Given the description of an element on the screen output the (x, y) to click on. 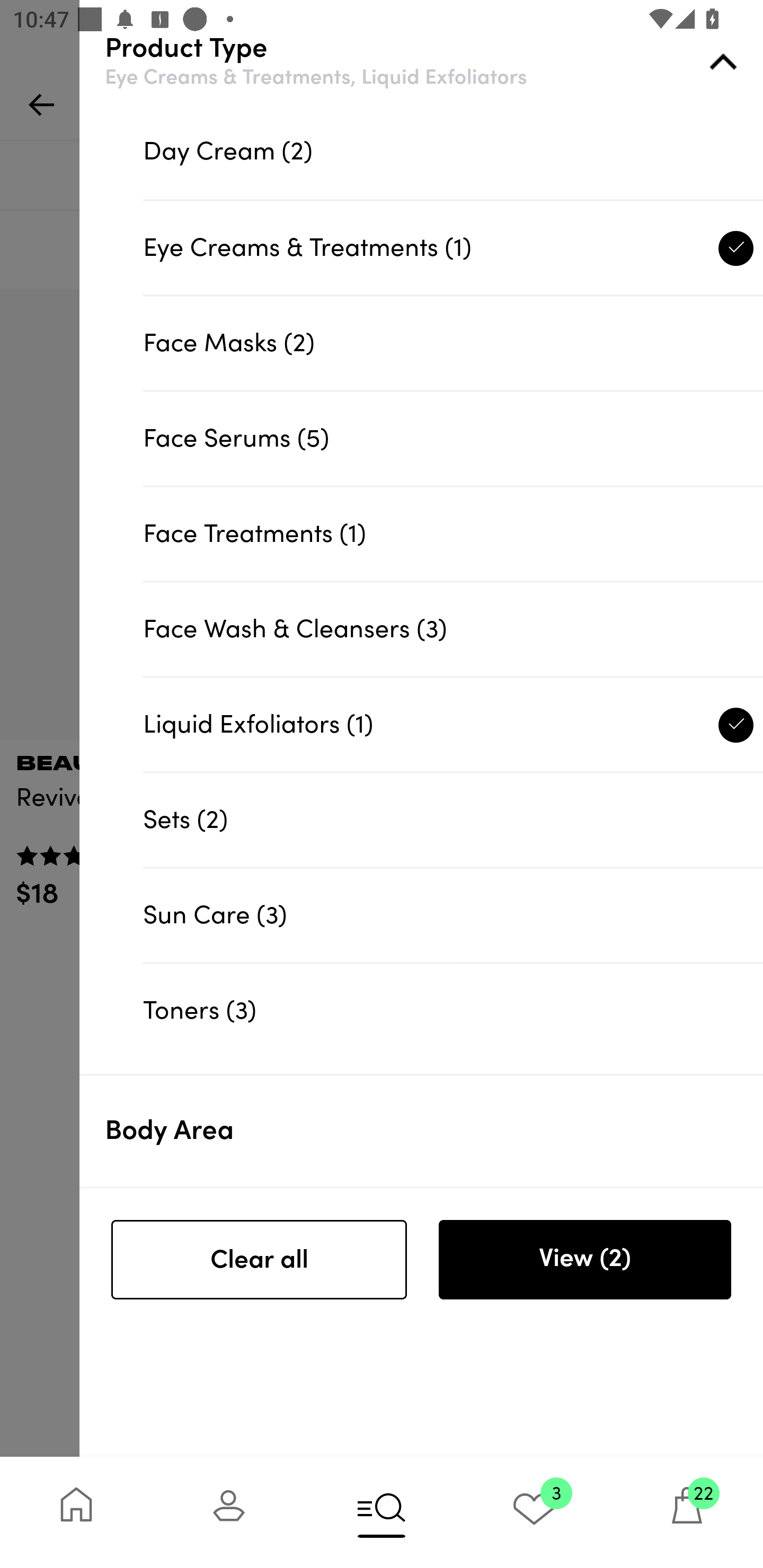
Day Cream (2) (453, 152)
Eye Creams & Treatments (1)  (453, 246)
Face Masks (2) (453, 342)
Face Serums (5) (453, 438)
Face Treatments (1) (453, 533)
Face Wash & Cleansers (3) (453, 628)
Liquid Exfoliators (1)  (453, 723)
Sets (2) (453, 819)
Sun Care (3) (453, 914)
Toners (3) (453, 1010)
Body Area (434, 1130)
Clear all (258, 1259)
View (2) (584, 1259)
3 (533, 1512)
22 (686, 1512)
